Given the description of an element on the screen output the (x, y) to click on. 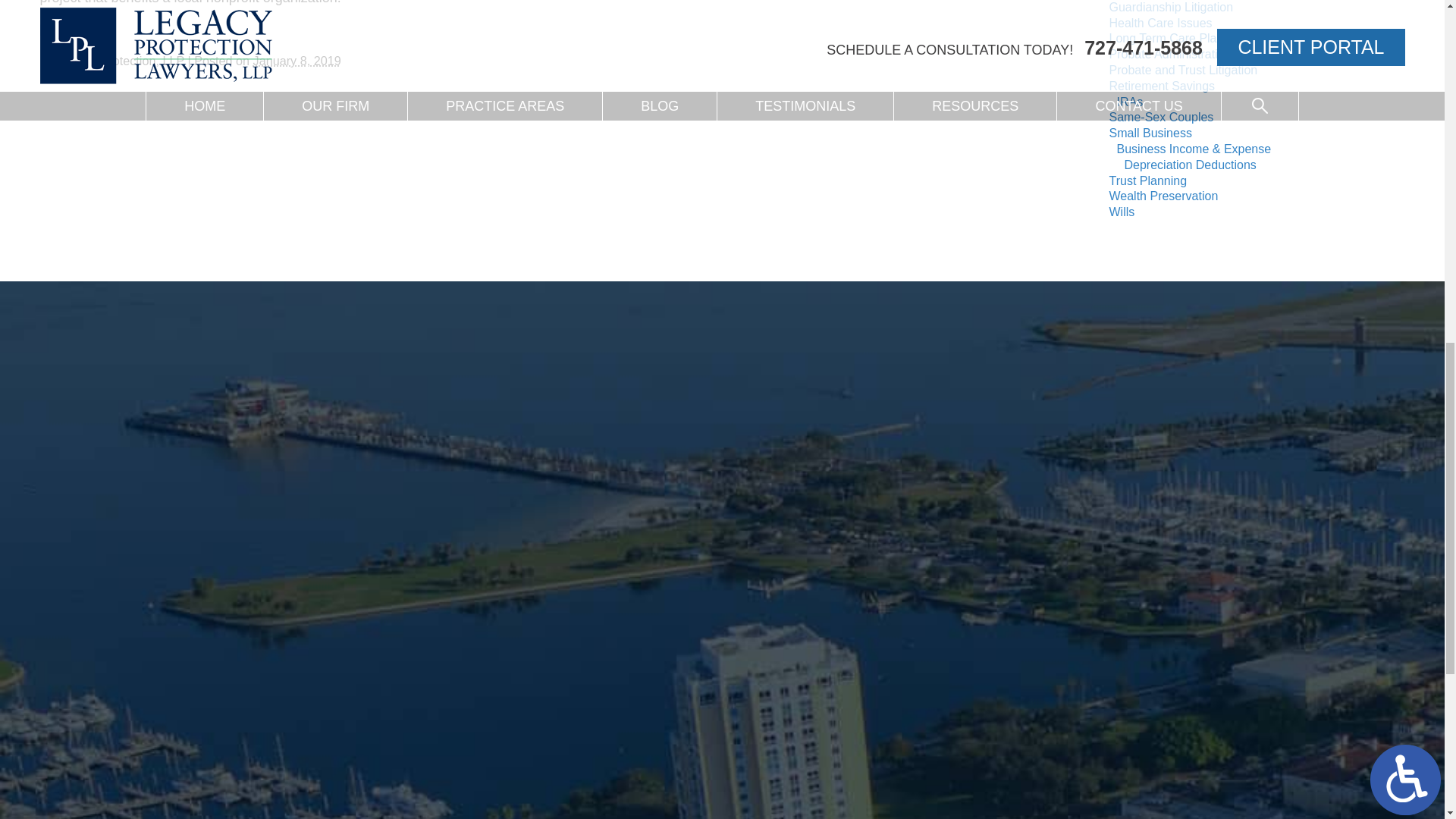
Facebook (63, 30)
LinkedIn (85, 30)
Twitter (74, 30)
2019-01-08T04:00:16-0800 (296, 60)
